Given the description of an element on the screen output the (x, y) to click on. 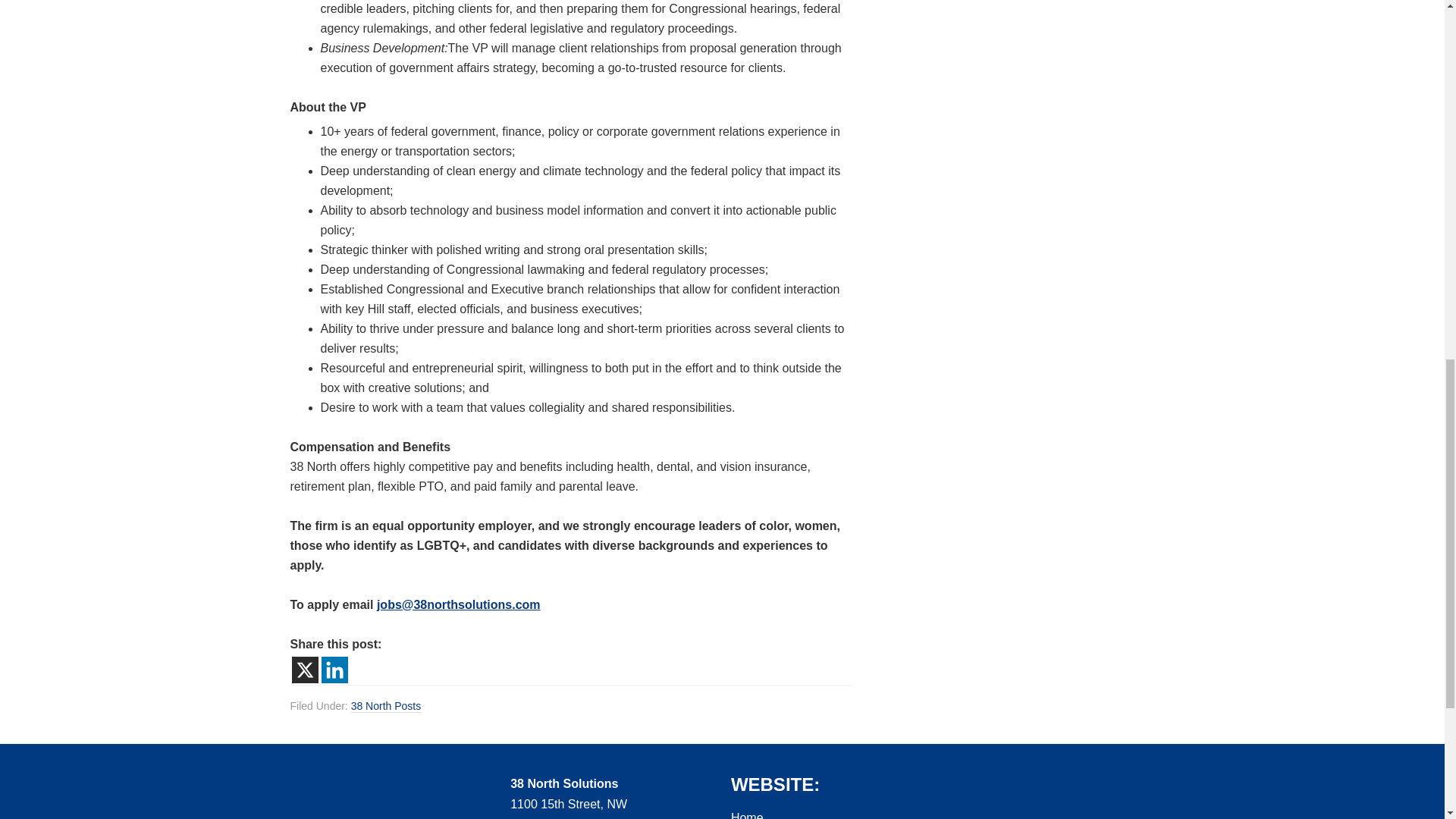
X (304, 669)
Home (746, 815)
Linkedin (334, 669)
38 North Posts (386, 706)
